Given the description of an element on the screen output the (x, y) to click on. 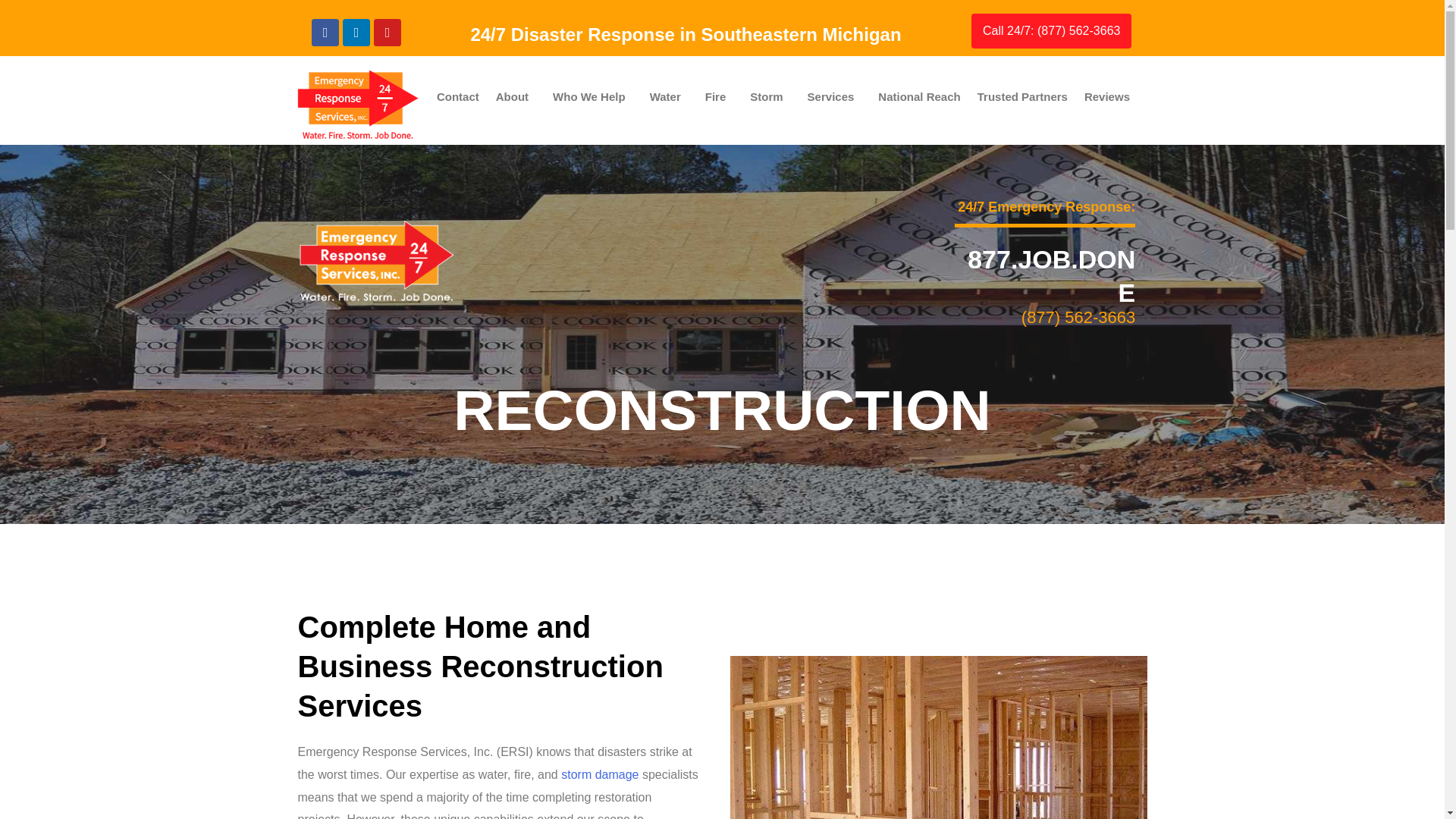
Contact (457, 96)
About (515, 96)
Youtube (387, 31)
Facebook (325, 31)
Linkedin (355, 31)
